Given the description of an element on the screen output the (x, y) to click on. 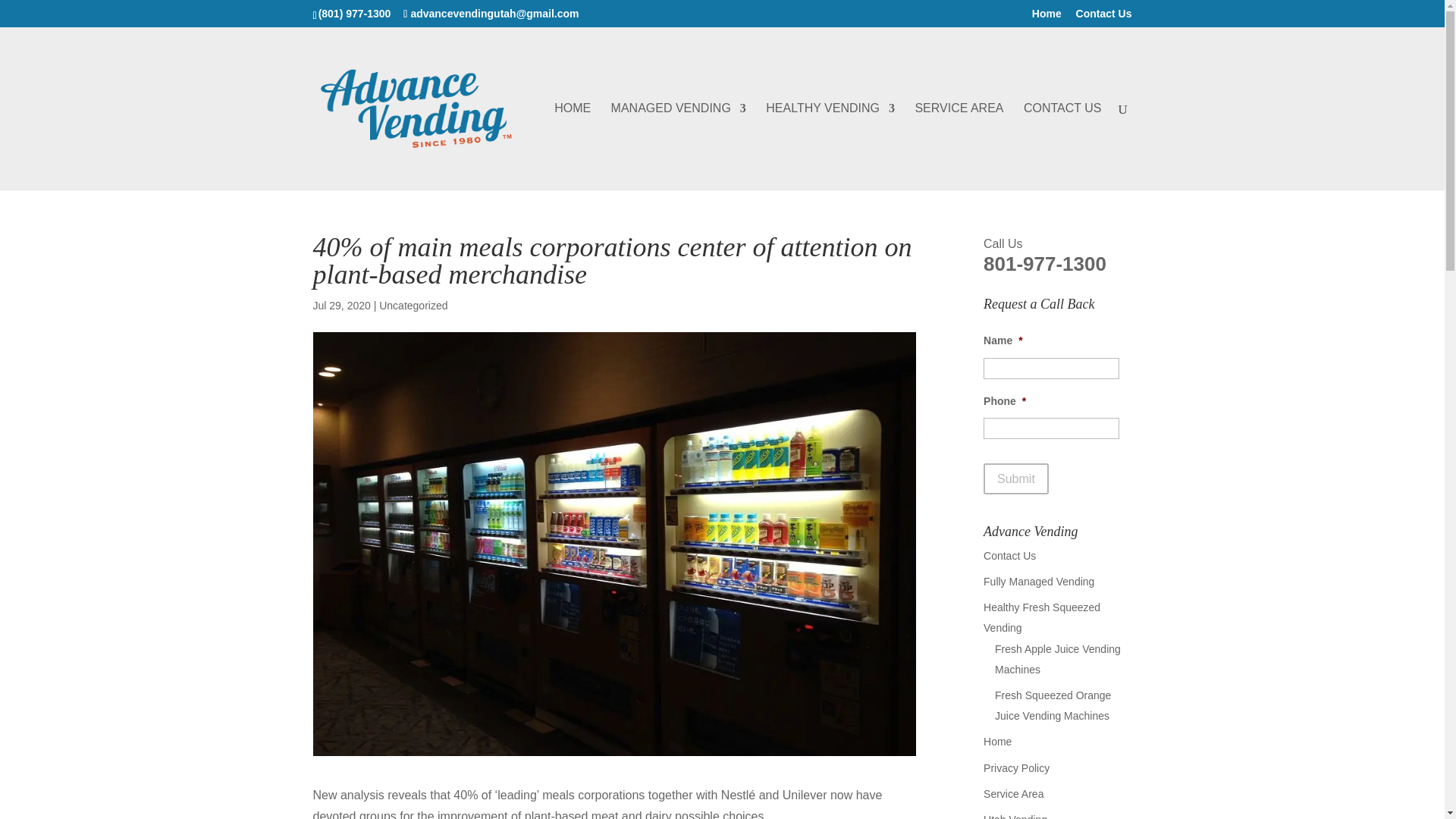
SERVICE AREA (958, 146)
Contact Us (1009, 555)
HEALTHY VENDING (830, 146)
CONTACT US (1062, 146)
Contact Us (1103, 16)
Submit (1016, 478)
Submit (1016, 478)
HOME (572, 146)
Home (1046, 16)
Uncategorized (412, 305)
MANAGED VENDING (678, 146)
